Given the description of an element on the screen output the (x, y) to click on. 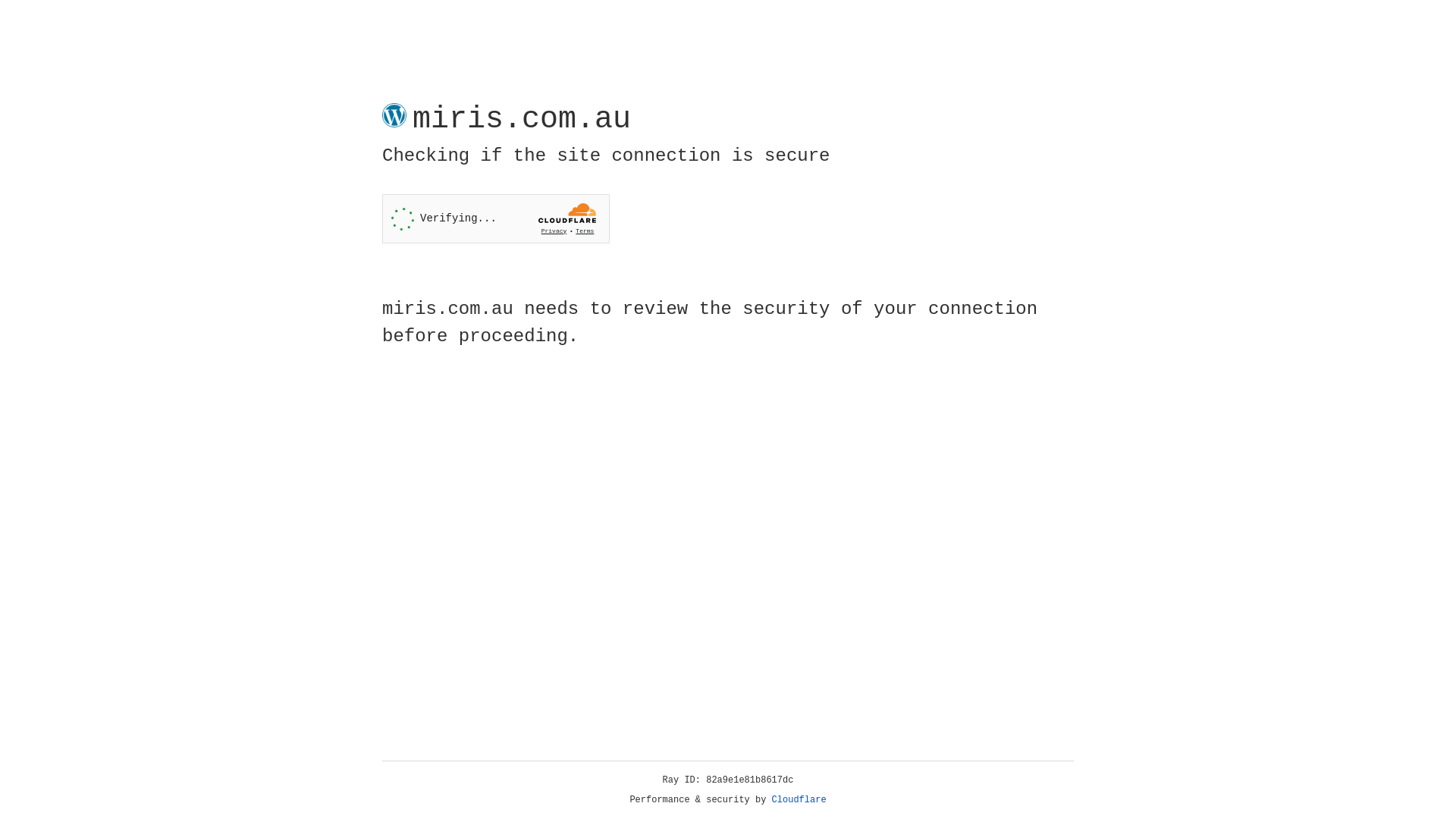
Widget containing a Cloudflare security challenge Element type: hover (495, 218)
Cloudflare Element type: text (798, 799)
